Given the description of an element on the screen output the (x, y) to click on. 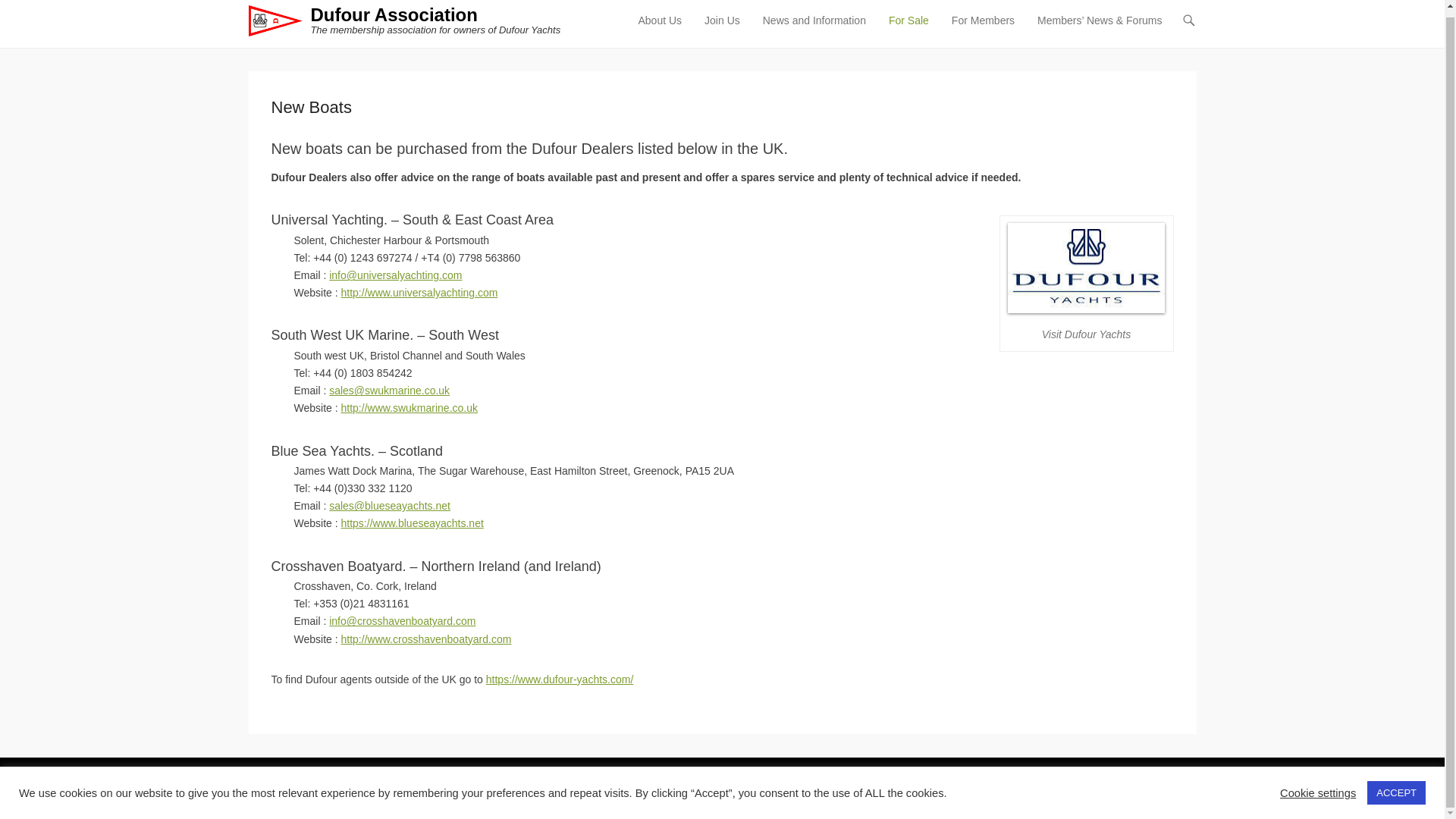
Skip to content (665, 21)
Join Us (722, 29)
Dufour Association (393, 14)
About Us (659, 29)
News and Information (814, 29)
Contact us (395, 275)
Contact us (389, 390)
Dufour Association (393, 14)
Catch Themes (1163, 787)
Dufour Association (368, 787)
Skip to content (665, 21)
For Sale (908, 29)
For Members (982, 29)
